Given the description of an element on the screen output the (x, y) to click on. 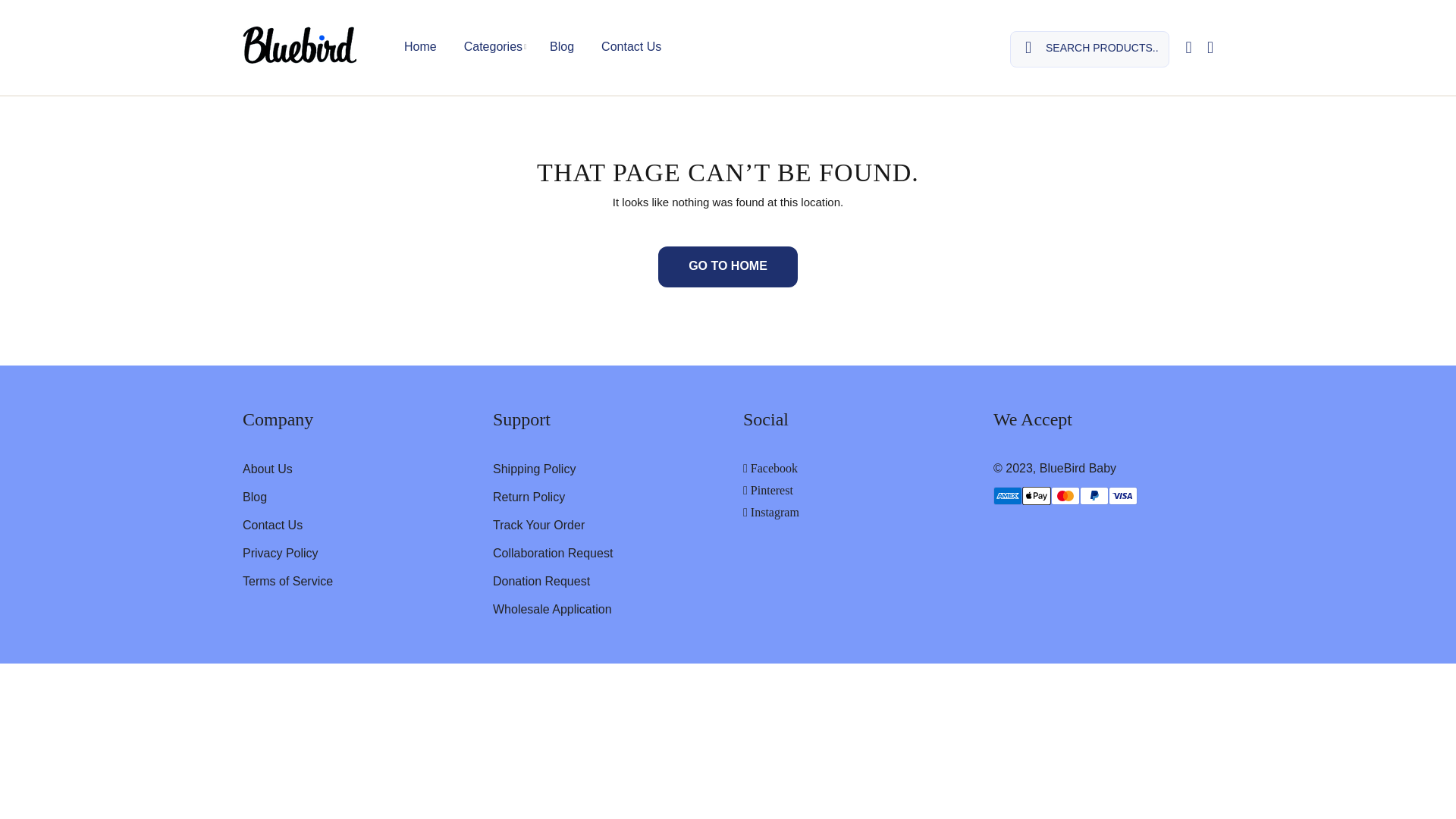
Mastercard (1065, 495)
Visa (1122, 495)
Apple Pay (1036, 495)
BlueBird Baby on Facebook (769, 468)
GO TO HOME (727, 266)
BlueBird Baby on Pinterest (767, 490)
Contact Us (624, 46)
BlueBird Baby on Instagram (770, 512)
Blog (561, 46)
Categories (492, 46)
American Express (1007, 495)
About Us (267, 469)
Home (421, 46)
PayPal (1094, 495)
